Given the description of an element on the screen output the (x, y) to click on. 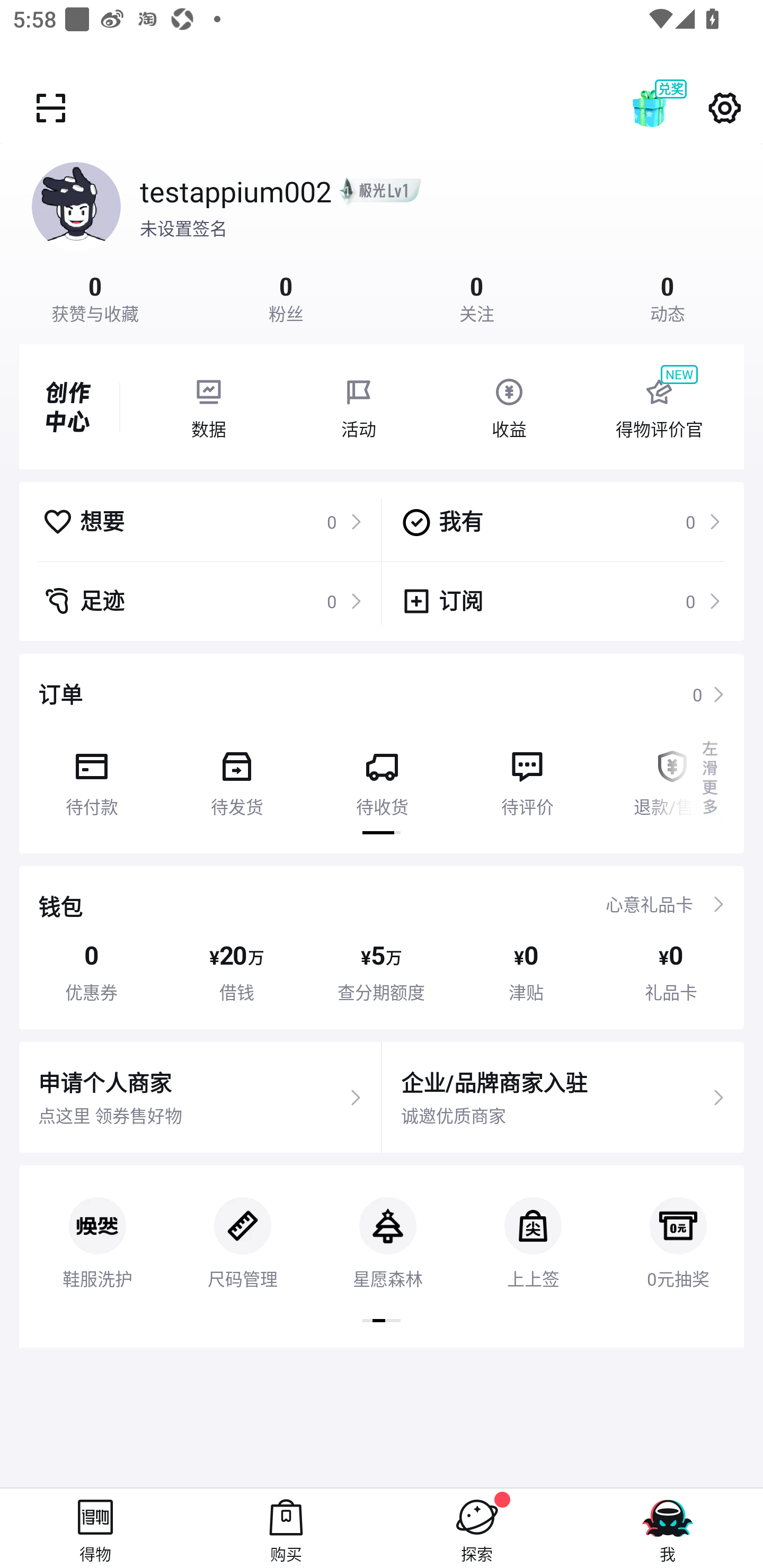
兑奖 (667, 107)
testappium002 未设置签名 0 获赞与收藏 0 粉丝 0 关注 0 动态 (381, 233)
0 获赞与收藏 (95, 296)
0 粉丝 (285, 296)
0 关注 (476, 296)
0 动态 (667, 296)
数据 (208, 406)
活动 (358, 406)
收益 (508, 406)
NEW 得物评价官 (658, 406)
想要 0 (201, 521)
我有 0 (560, 521)
足迹 0 (201, 601)
订阅 0 (560, 601)
订单 0 待付款 待发货 待收货 待评价 退款/售后 (381, 752)
待付款 (91, 776)
待发货 (236, 776)
待收货 (381, 776)
待评价 (526, 776)
退款/售后 (671, 776)
心意礼品卡 (648, 903)
0 优惠券 (91, 971)
¥ 20 万 借钱 (236, 971)
¥ 5 万 查分期额度 (381, 971)
¥ 0 津贴 (525, 971)
¥ 0 礼品卡 (670, 971)
申请个人商家 点这里 领券售好物 (199, 1097)
企业/品牌商家入驻 诚邀优质商家 (562, 1097)
鞋服洗护 (97, 1227)
尺码管理 (242, 1227)
星愿森林 (387, 1227)
上上签 (532, 1227)
0元抽奖 (674, 1227)
得物 (95, 1528)
购买 (285, 1528)
探索 (476, 1528)
我 (667, 1528)
